Given the description of an element on the screen output the (x, y) to click on. 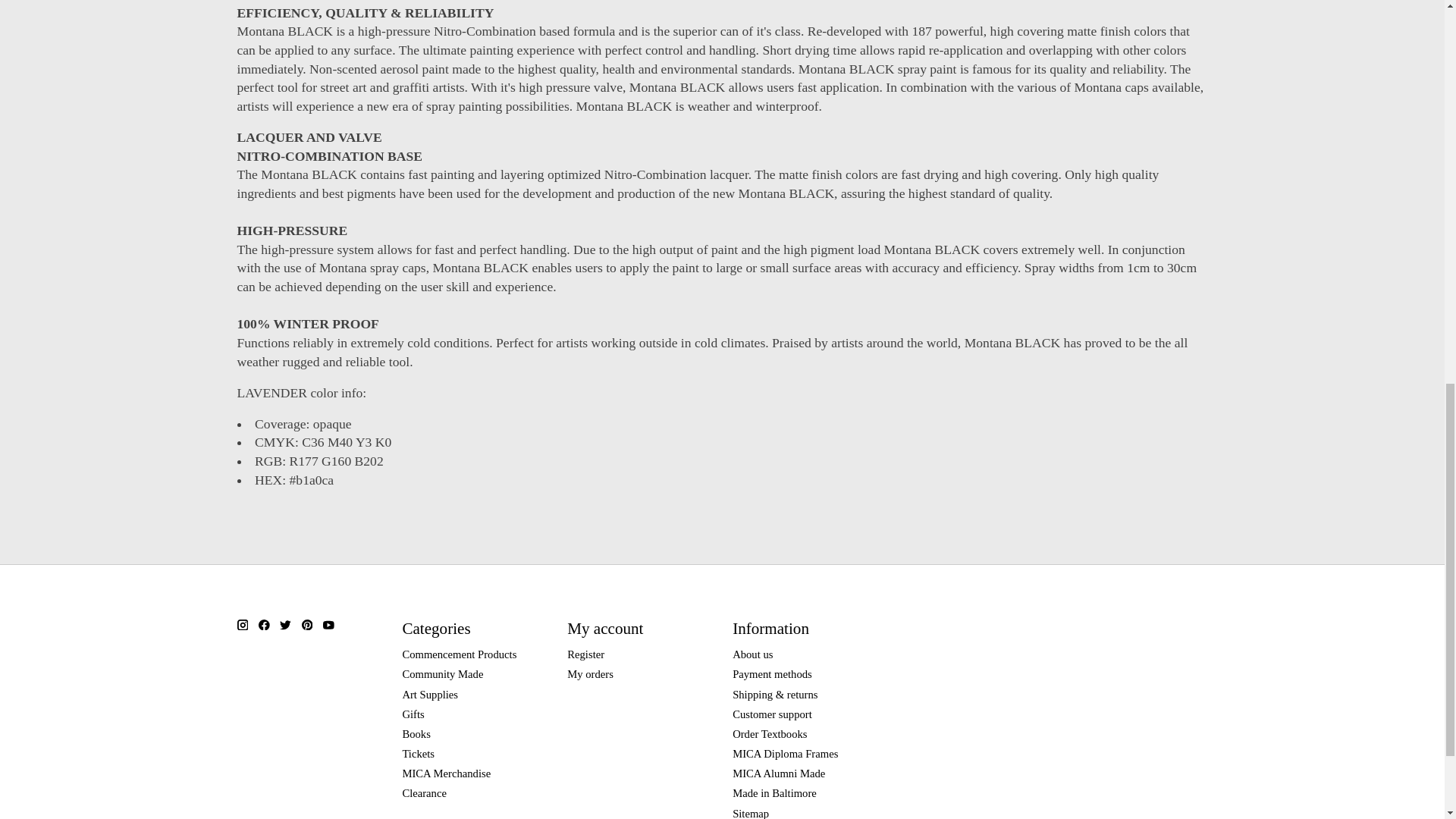
Payment methods (772, 674)
MICA Alumni Made (778, 773)
Register (585, 654)
Made in Baltimore (774, 793)
Order Textbooks (769, 734)
MICA Diploma Frames (785, 753)
My orders (589, 674)
About us (752, 654)
Customer support (772, 714)
Sitemap (750, 813)
